Given the description of an element on the screen output the (x, y) to click on. 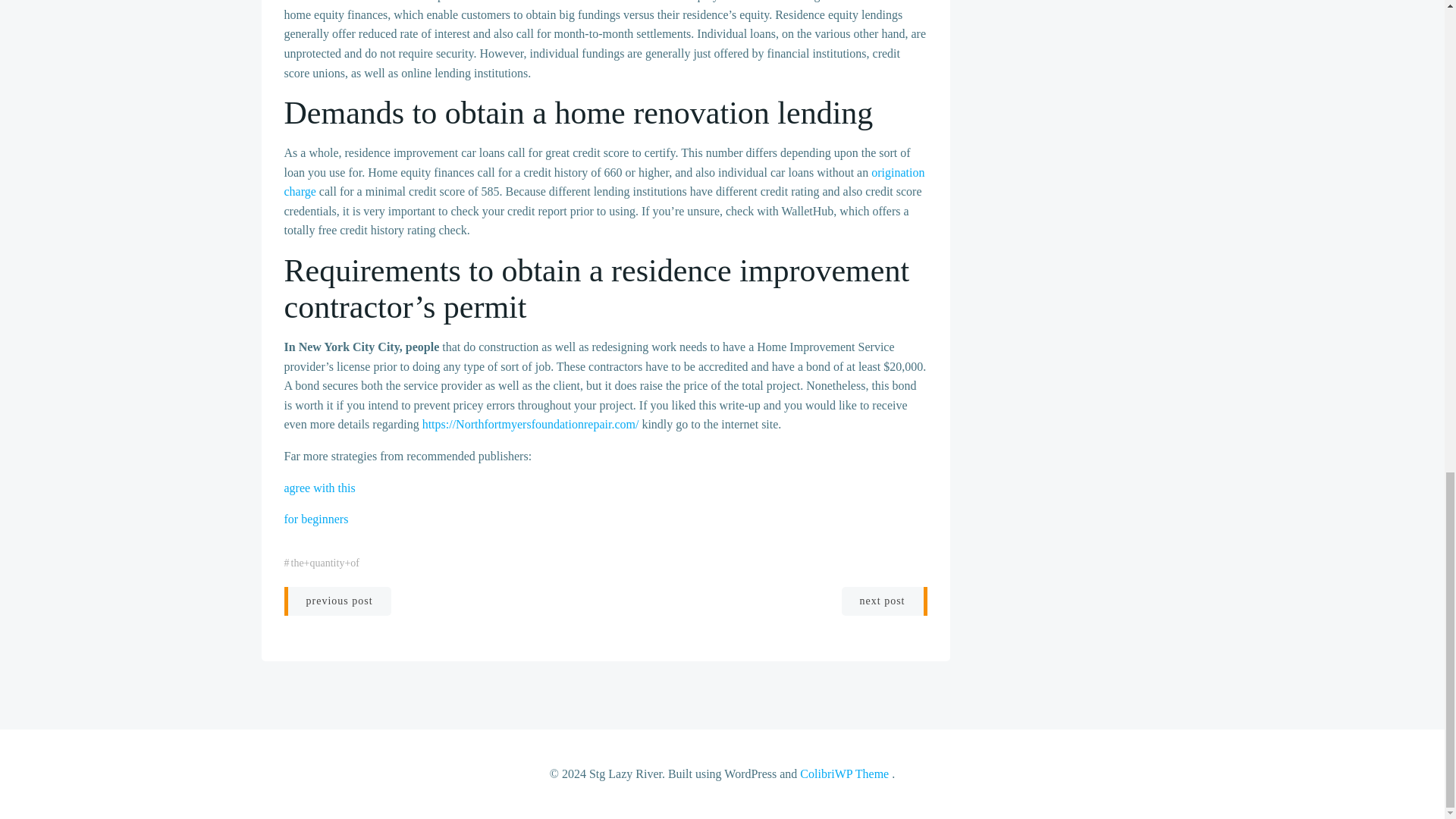
previous post (336, 601)
origination charge (603, 182)
for beginners (315, 518)
next post (884, 601)
agree with this (319, 487)
